Given the description of an element on the screen output the (x, y) to click on. 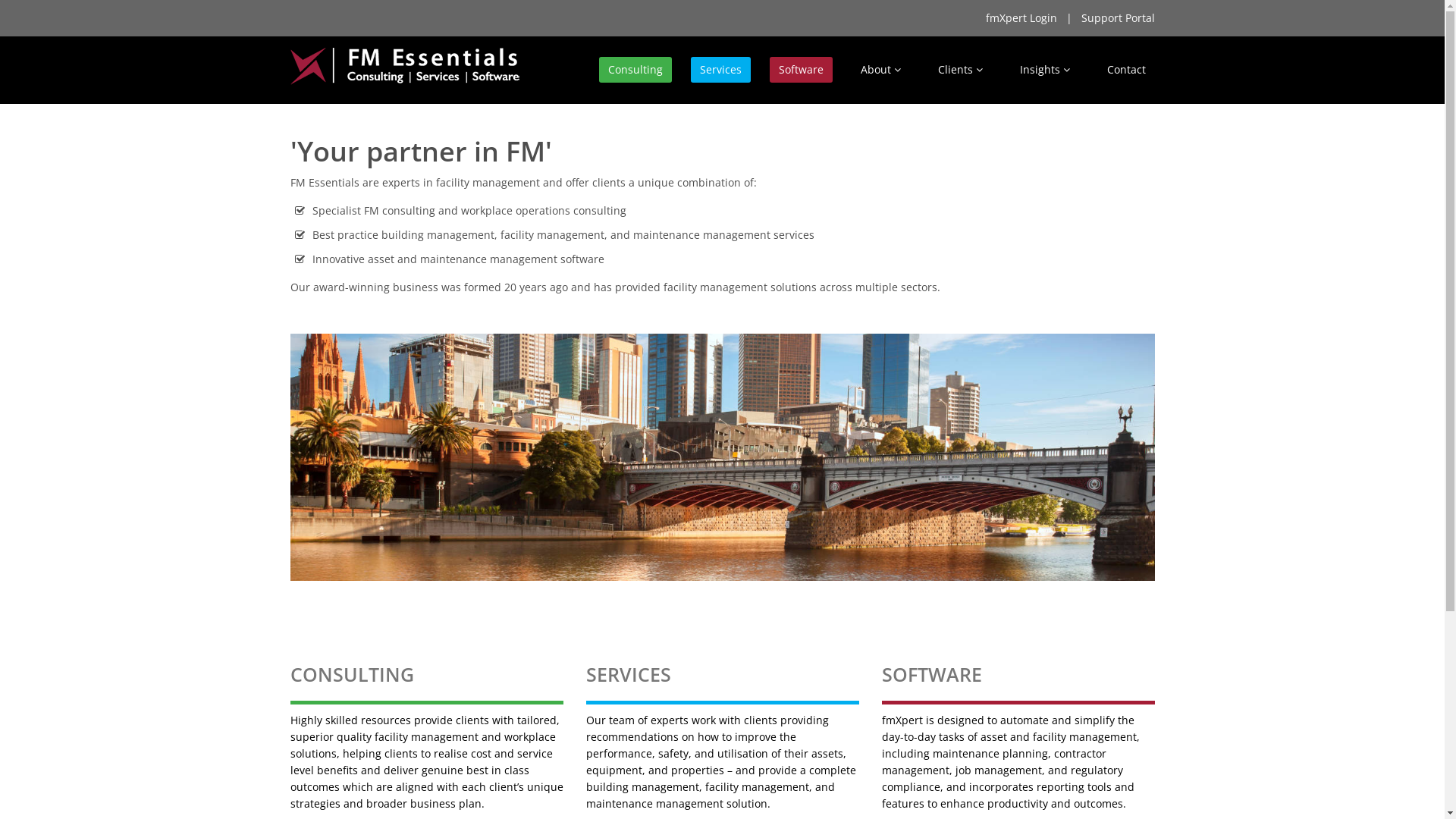
Insights Element type: text (1044, 69)
Clients Element type: text (959, 69)
Contact Element type: text (1126, 69)
Services Element type: text (719, 69)
Consulting Element type: text (635, 69)
About Element type: text (879, 69)
fmXpert Login Element type: text (1021, 17)
Home - FM consulting Element type: hover (721, 457)
Software Element type: text (799, 69)
Support Portal Element type: text (1117, 17)
